Given the description of an element on the screen output the (x, y) to click on. 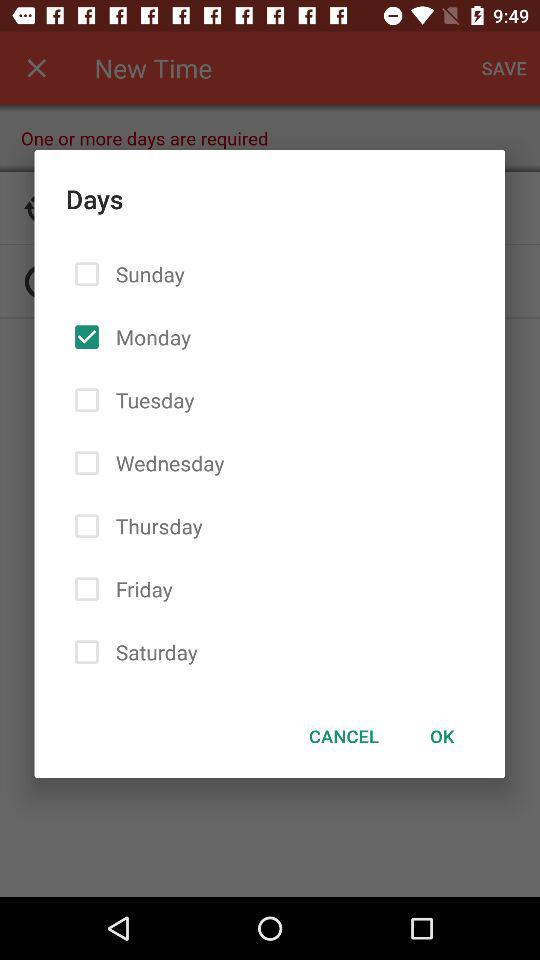
select the icon to the left of the ok icon (343, 735)
